Given the description of an element on the screen output the (x, y) to click on. 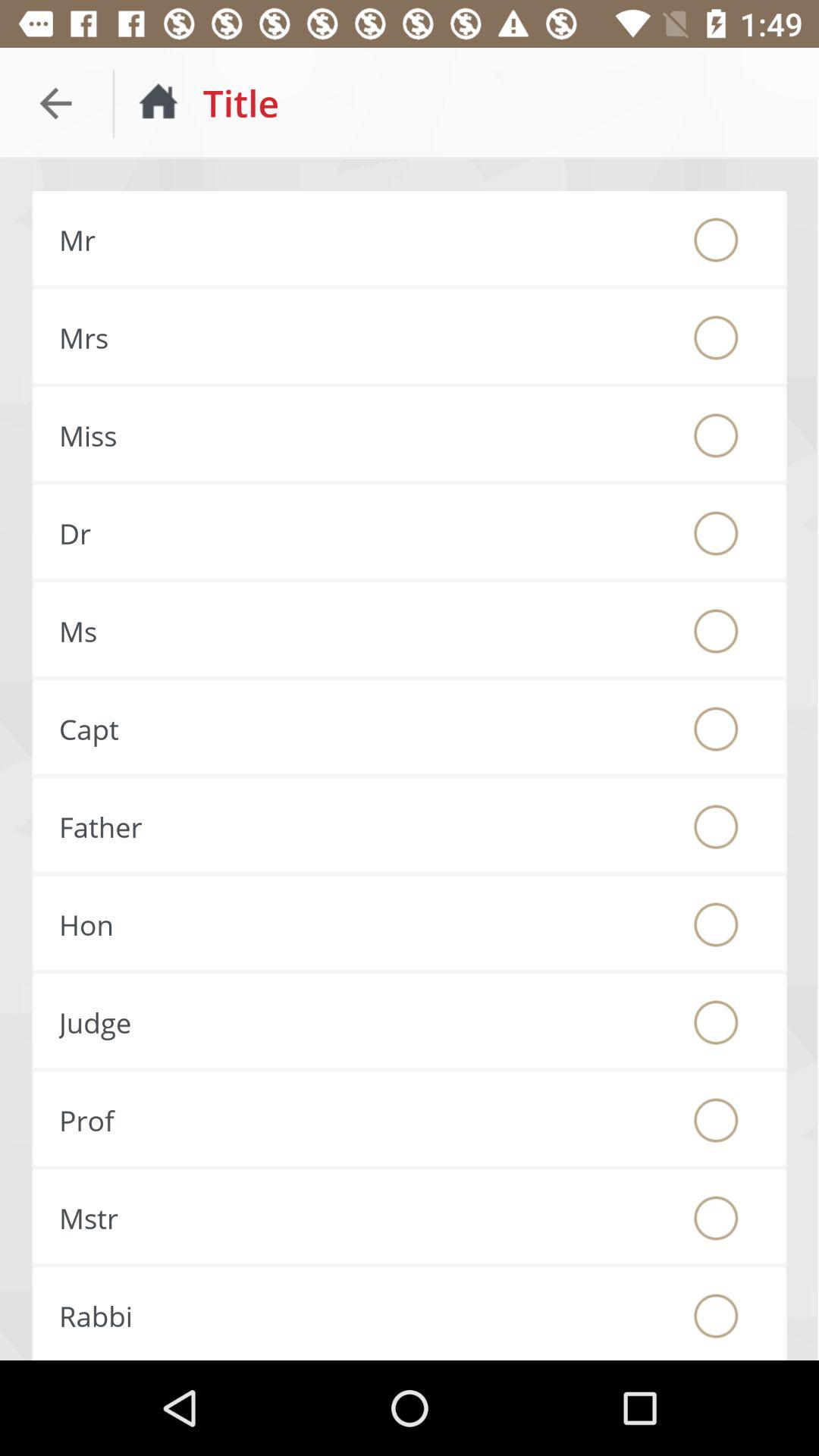
select teacher title (715, 1120)
